Given the description of an element on the screen output the (x, y) to click on. 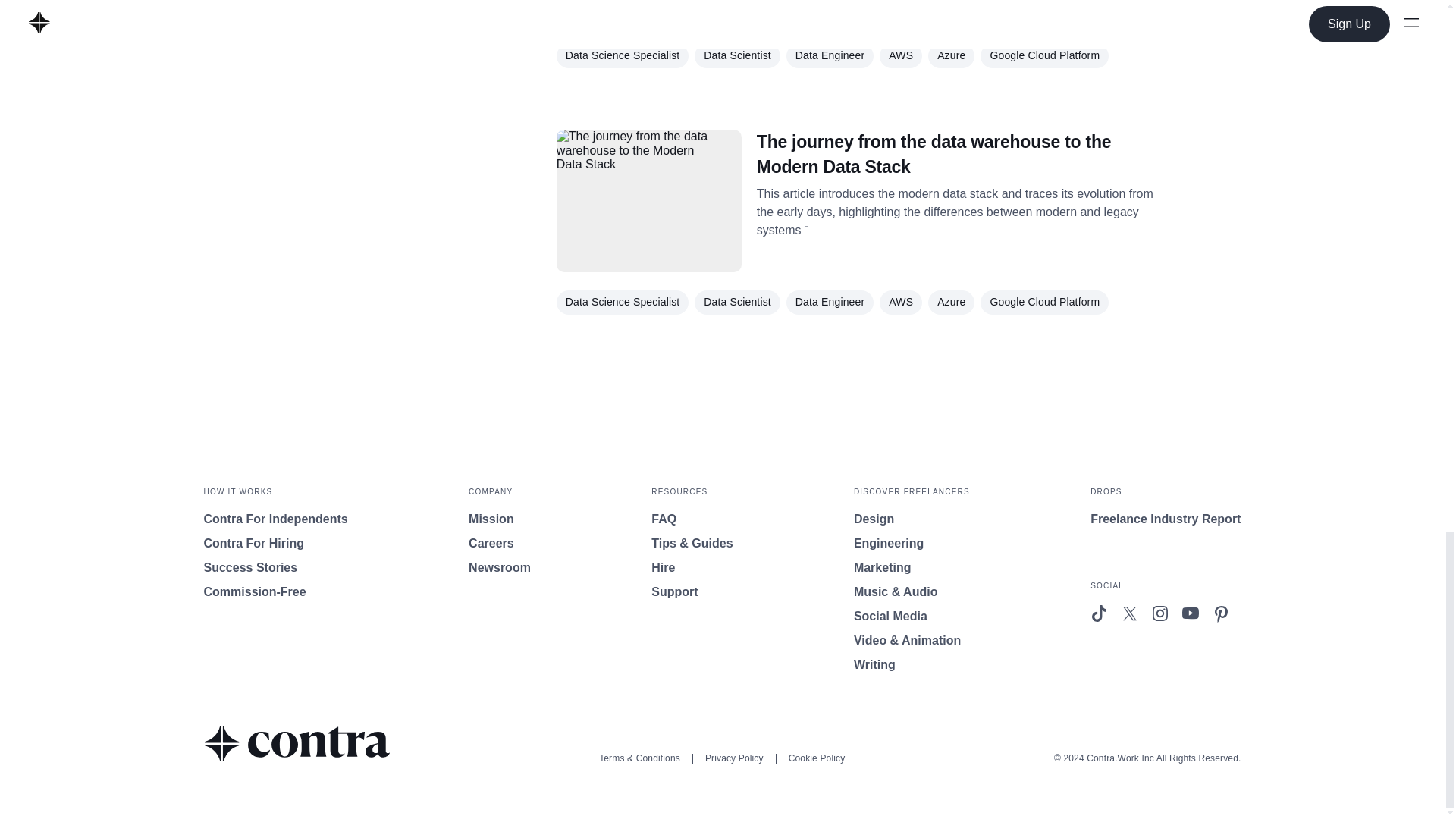
Contra For Independents (275, 519)
The journey from the data warehouse to the Modern Data Stack (957, 153)
Contra For Hiring (275, 543)
